Given the description of an element on the screen output the (x, y) to click on. 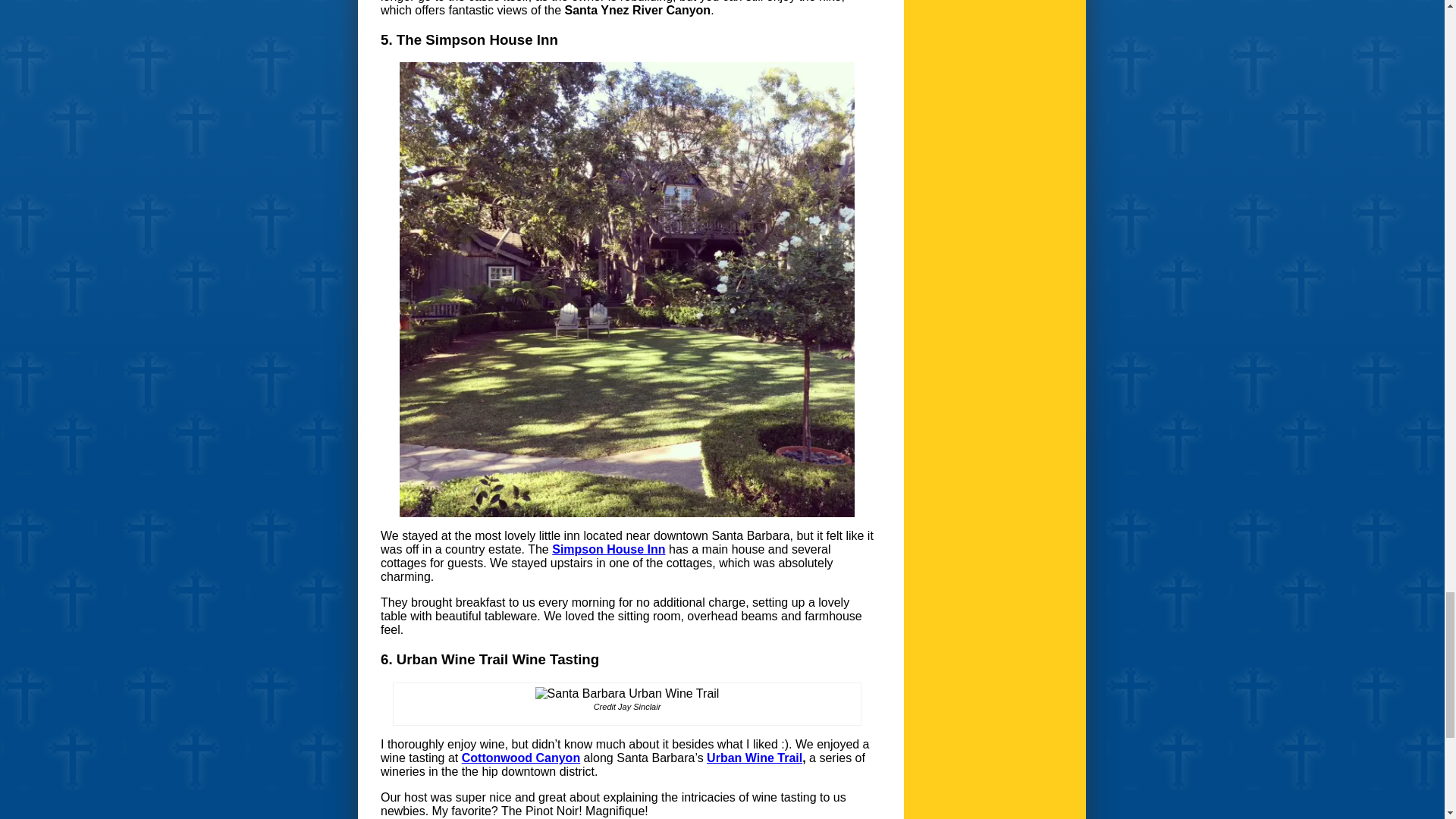
Cottonwood Canyon (520, 757)
Simpson House Inn (608, 549)
Urban Wine Trail (754, 757)
